Given the description of an element on the screen output the (x, y) to click on. 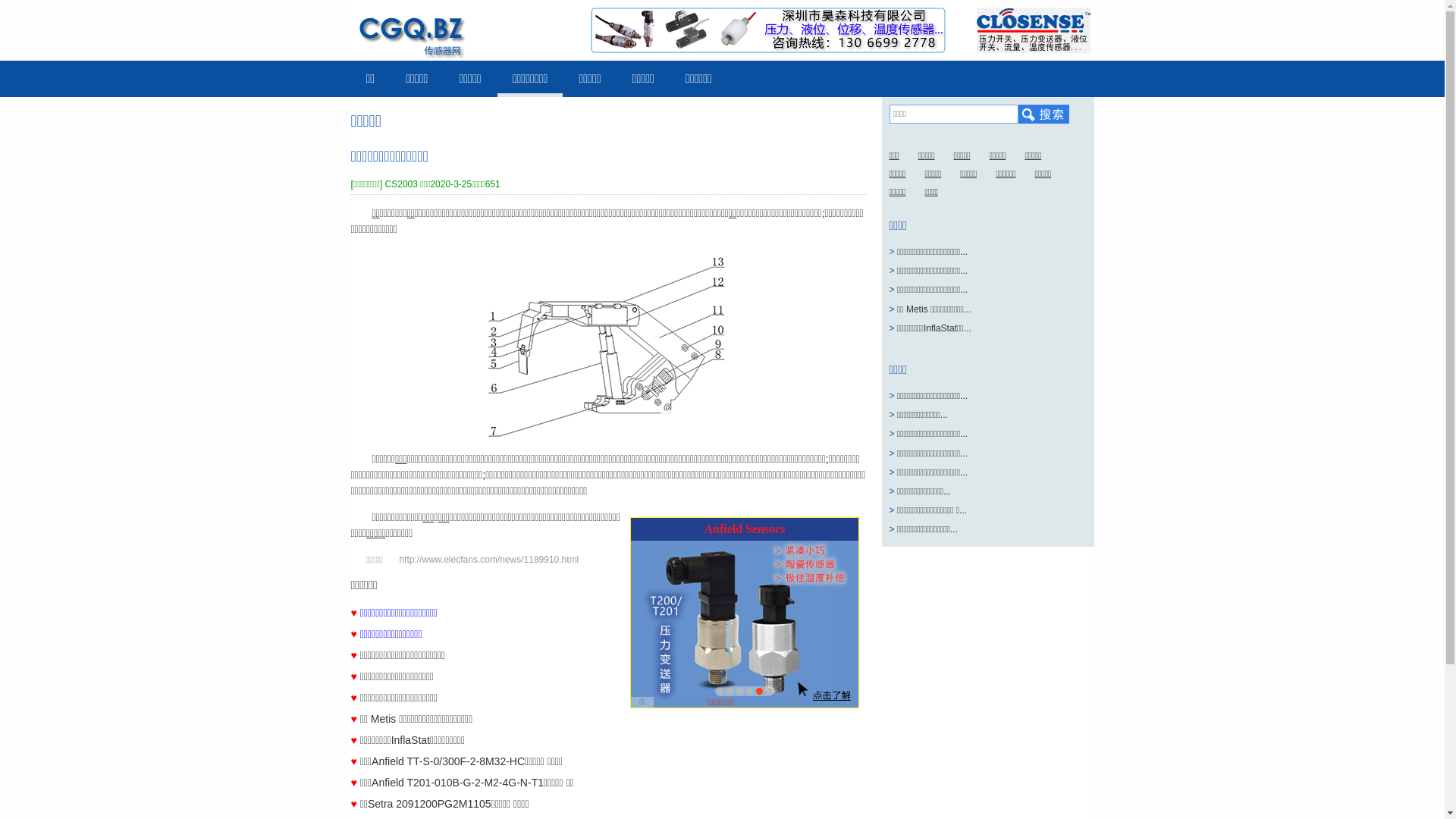
CS2003 Element type: text (401, 183)
